Given the description of an element on the screen output the (x, y) to click on. 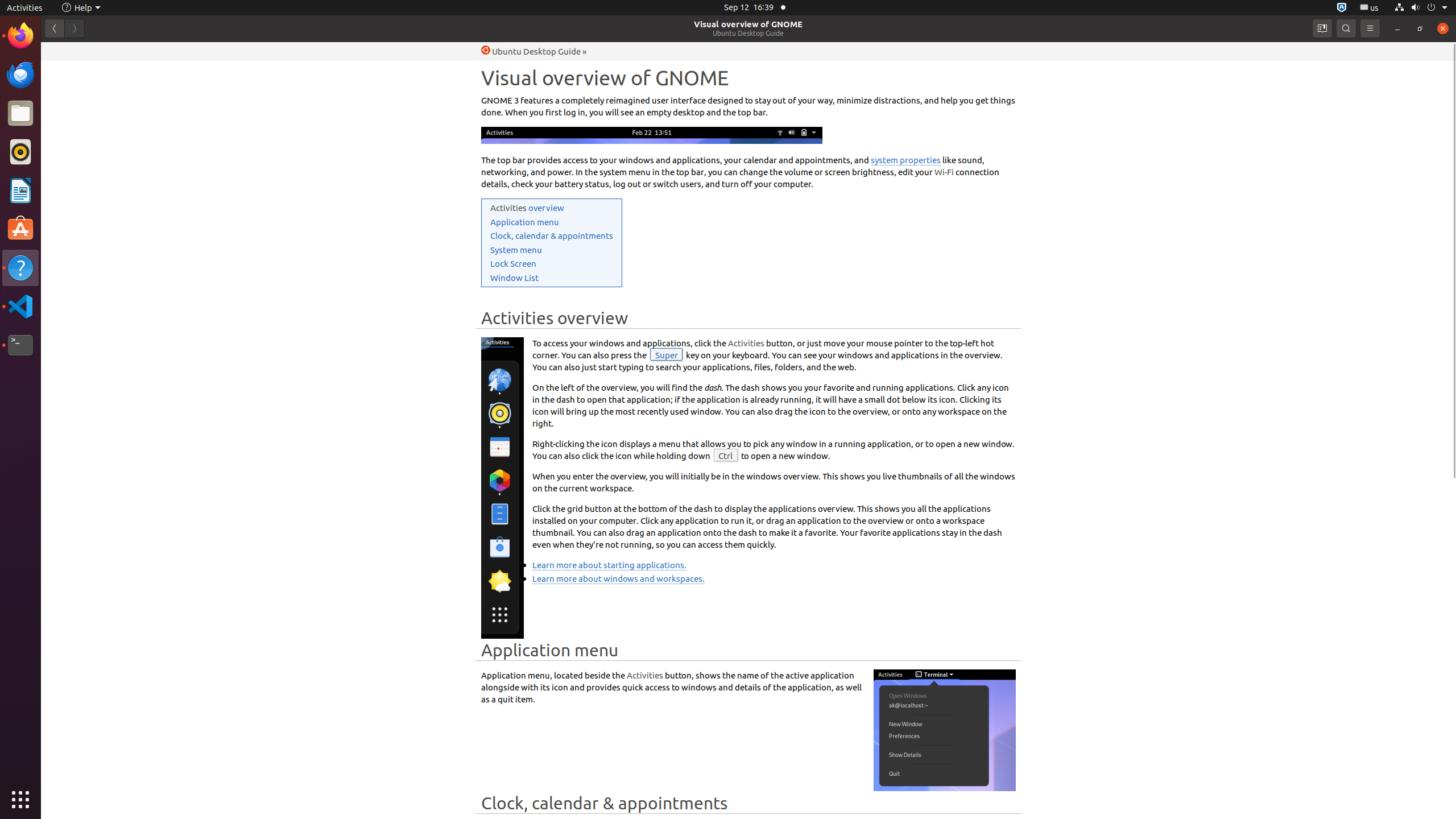
Activities Element type: label (24, 7)
li.txt Element type: label (146, 50)
